Given the description of an element on the screen output the (x, y) to click on. 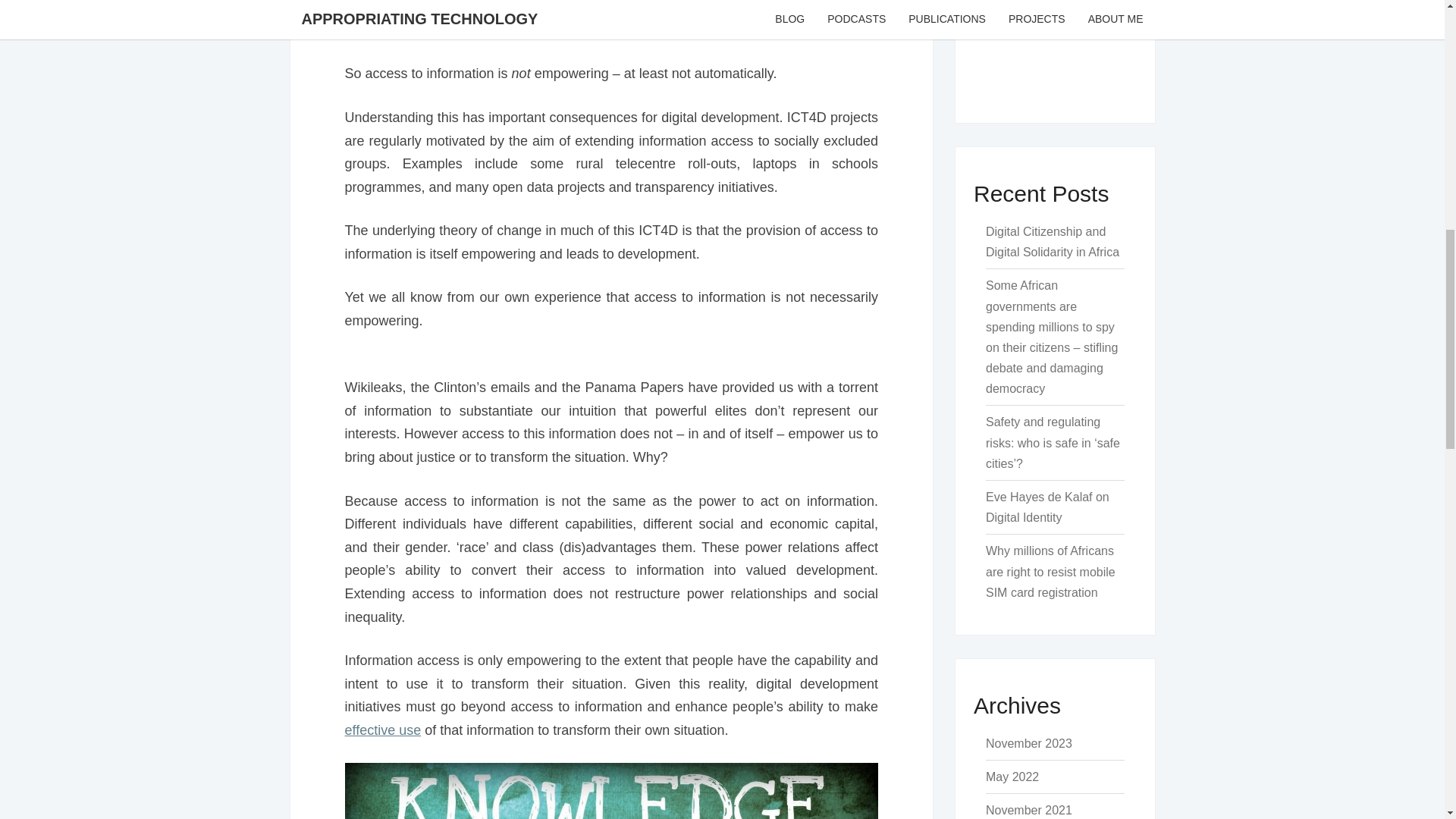
May 2022 (1012, 776)
widening of the gap (731, 7)
November 2023 (1028, 743)
effective use (381, 729)
November 2021 (1028, 809)
Eve Hayes de Kalaf on Digital Identity (1047, 507)
Digital Citizenship and Digital Solidarity in Africa (1052, 241)
